Given the description of an element on the screen output the (x, y) to click on. 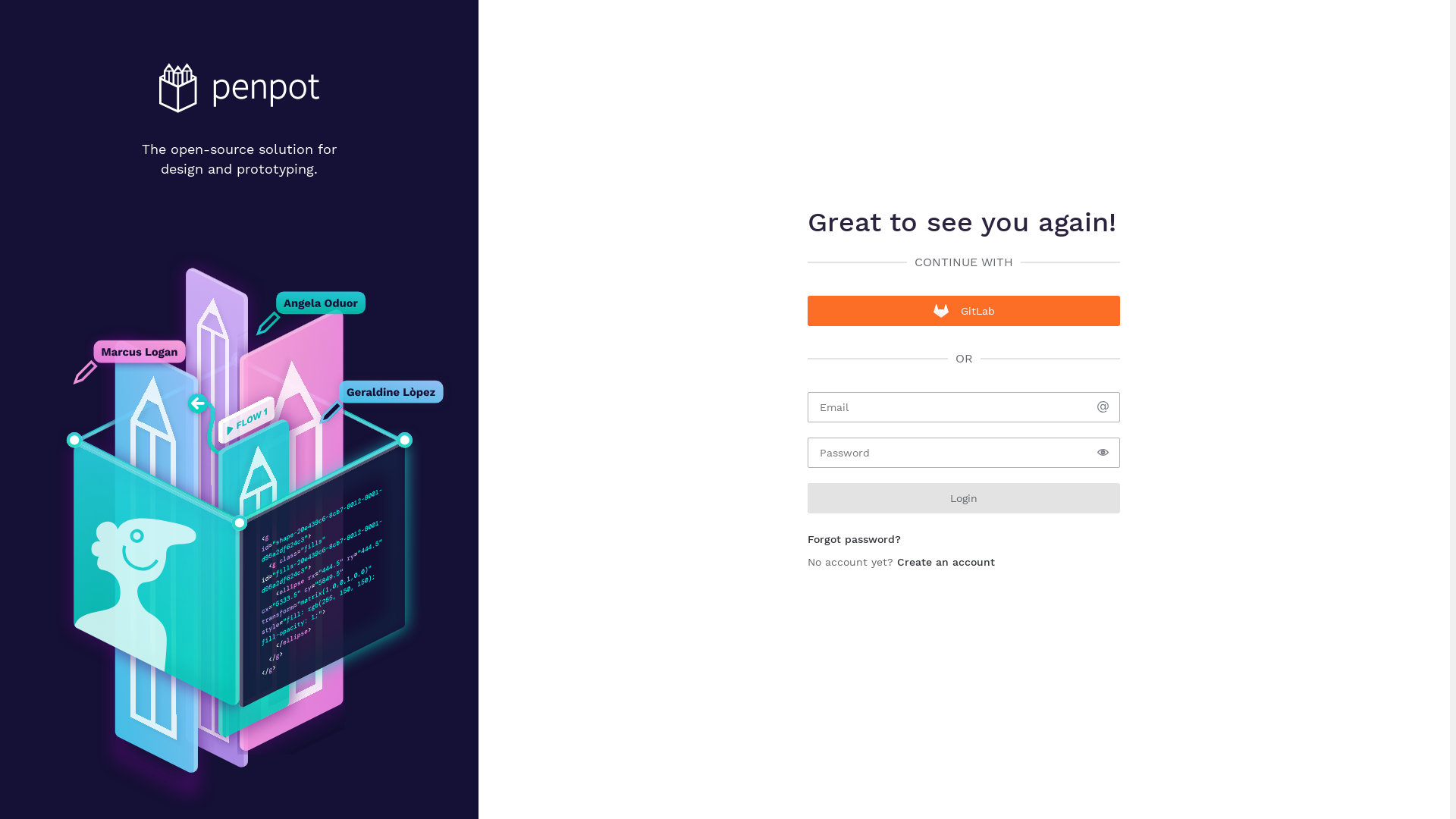
Forgot password? Element type: text (853, 539)
Create an account Element type: text (945, 561)
Login Element type: text (963, 498)
GitLab Element type: text (963, 310)
